Given the description of an element on the screen output the (x, y) to click on. 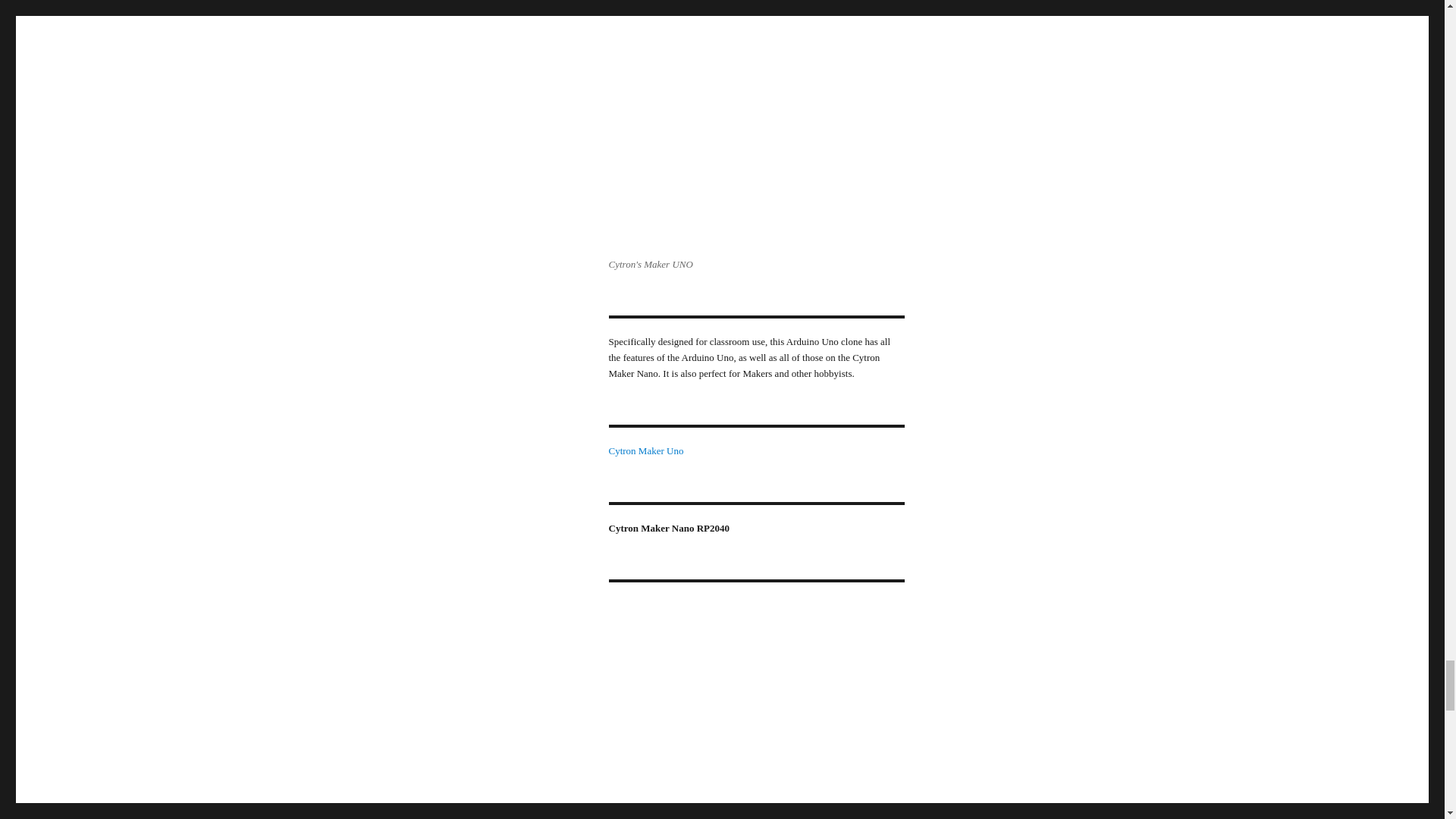
Cytron Maker Uno (645, 450)
